Given the description of an element on the screen output the (x, y) to click on. 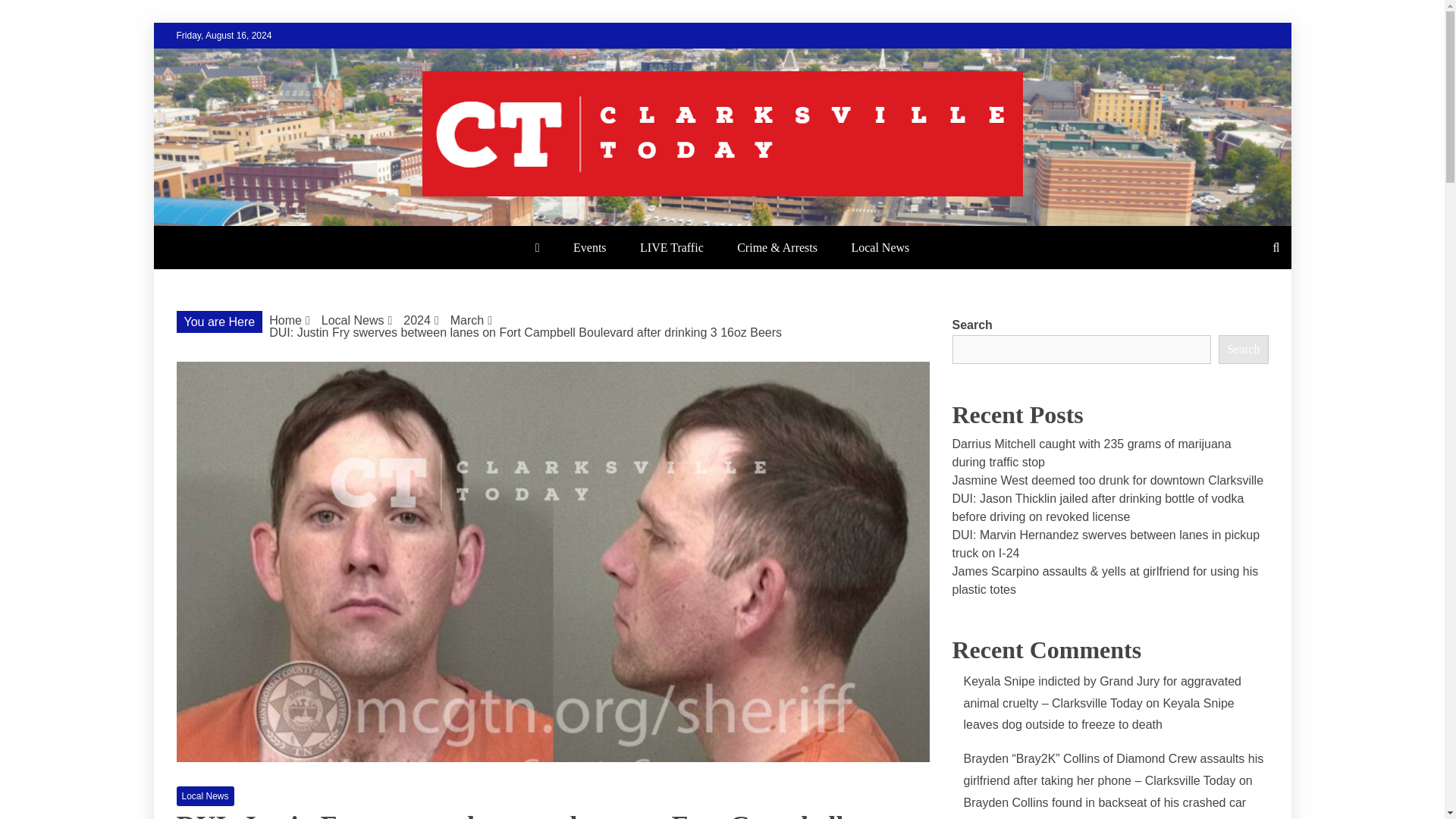
LIVE Traffic (671, 247)
Home (285, 319)
Search (31, 13)
2024 (416, 319)
CLARKSVILLE TODAY (351, 224)
Local News (879, 247)
Events (589, 247)
Local News (352, 319)
March (466, 319)
